Given the description of an element on the screen output the (x, y) to click on. 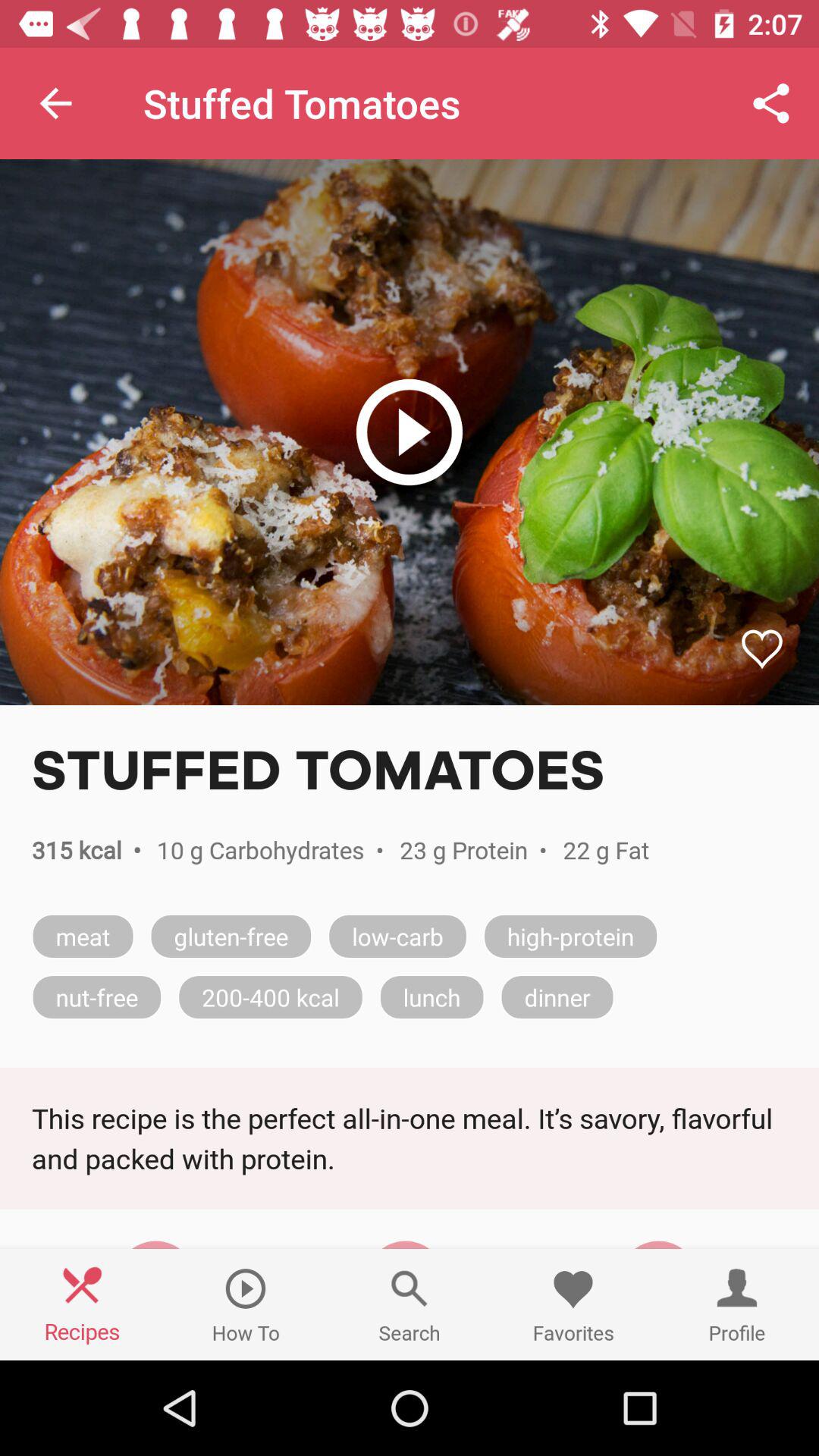
launch the item to the left of the stuffed tomatoes item (55, 103)
